Given the description of an element on the screen output the (x, y) to click on. 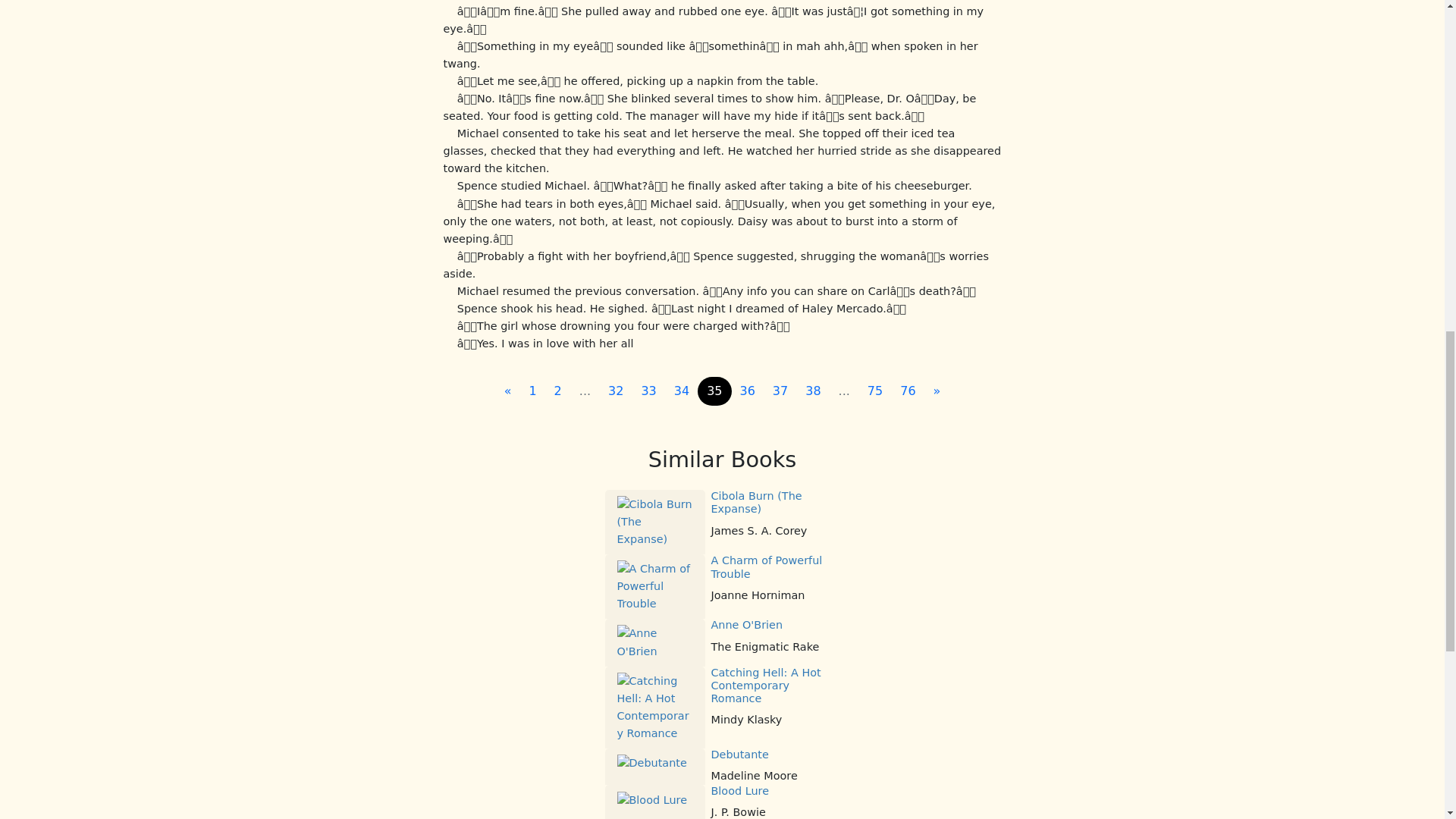
1 (531, 390)
75 (875, 390)
34 (681, 390)
36 (747, 390)
35 (713, 390)
32 (614, 390)
38 (812, 390)
33 (648, 390)
76 (907, 390)
2 (557, 390)
37 (779, 390)
... (844, 390)
... (584, 390)
